Given the description of an element on the screen output the (x, y) to click on. 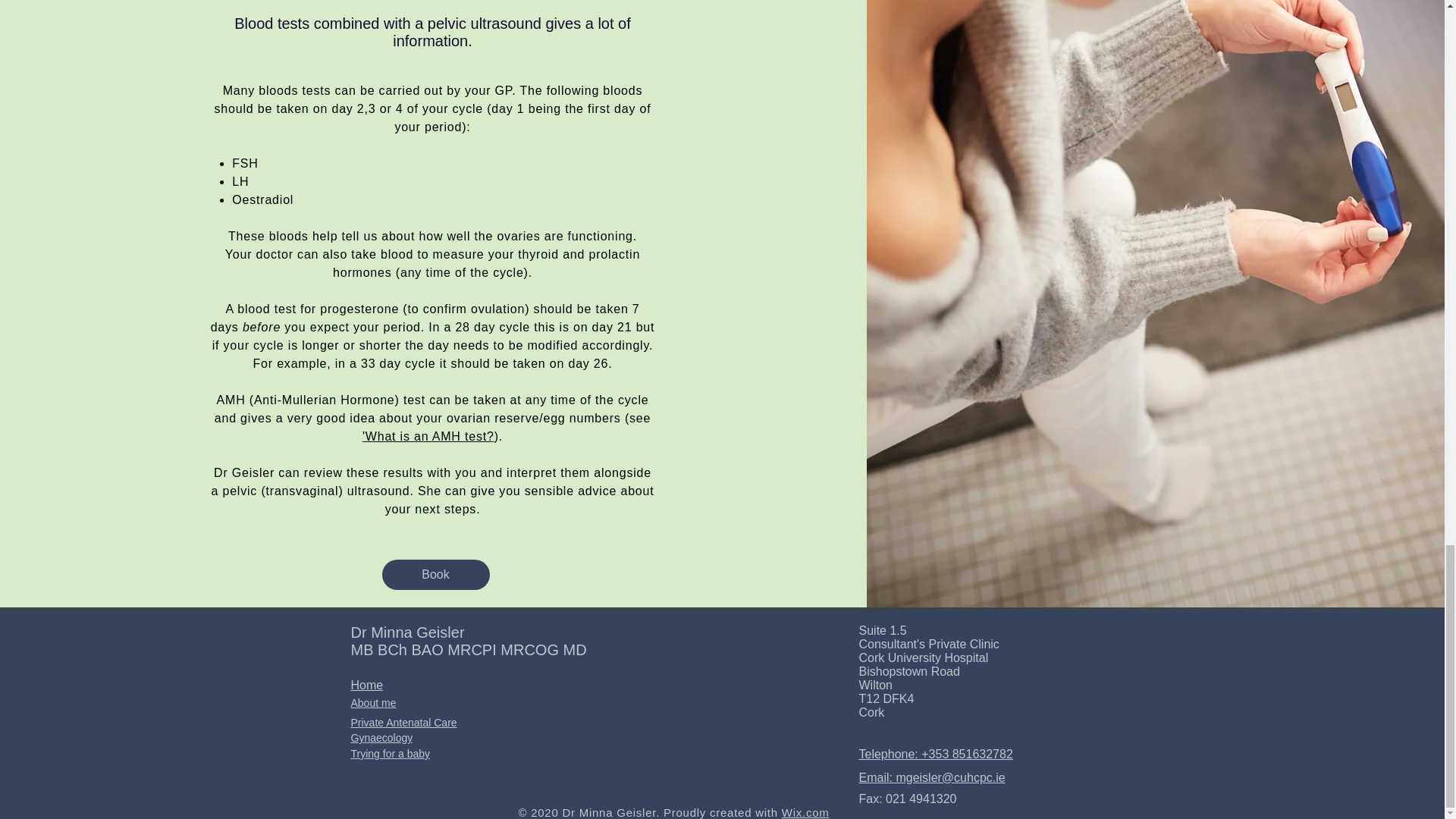
Book (435, 574)
Private Antenatal Care (403, 722)
Gynaecology (381, 737)
Home (366, 684)
About me (373, 702)
Trying for a baby (389, 753)
'What is an AMH test? (428, 436)
